Given the description of an element on the screen output the (x, y) to click on. 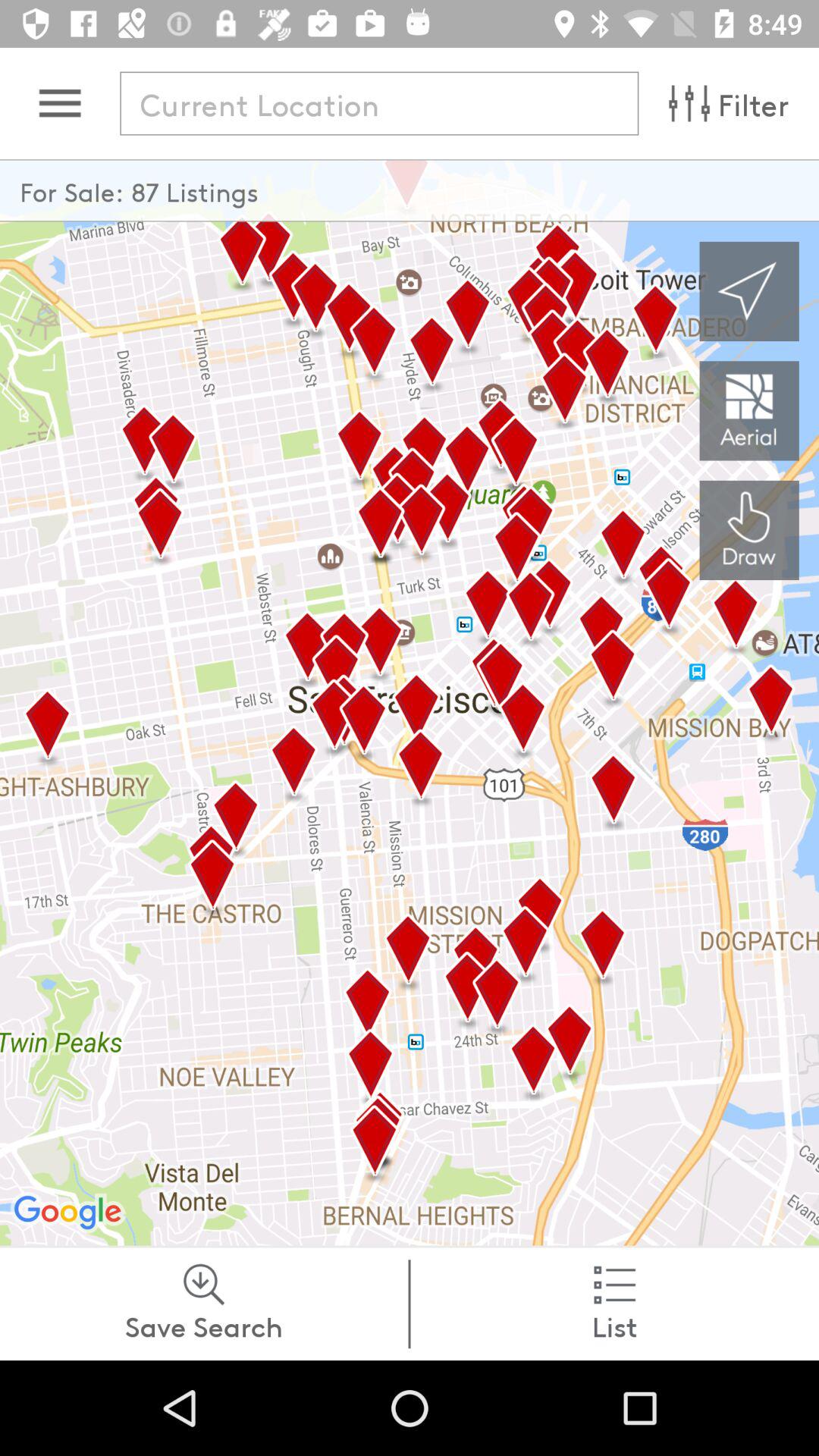
press the icon at the top left corner (59, 103)
